Given the description of an element on the screen output the (x, y) to click on. 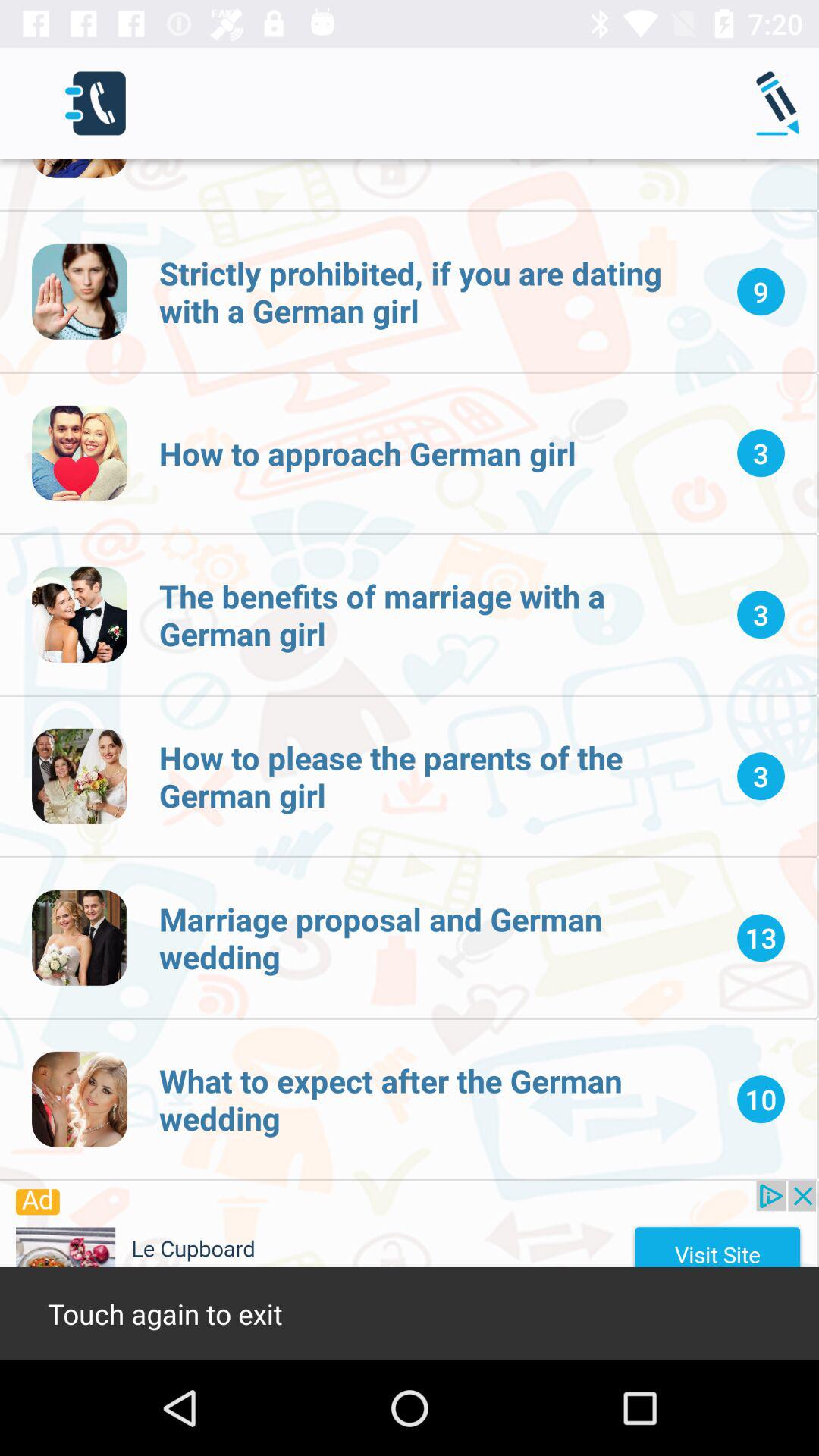
choose first image from top (79, 291)
